Given the description of an element on the screen output the (x, y) to click on. 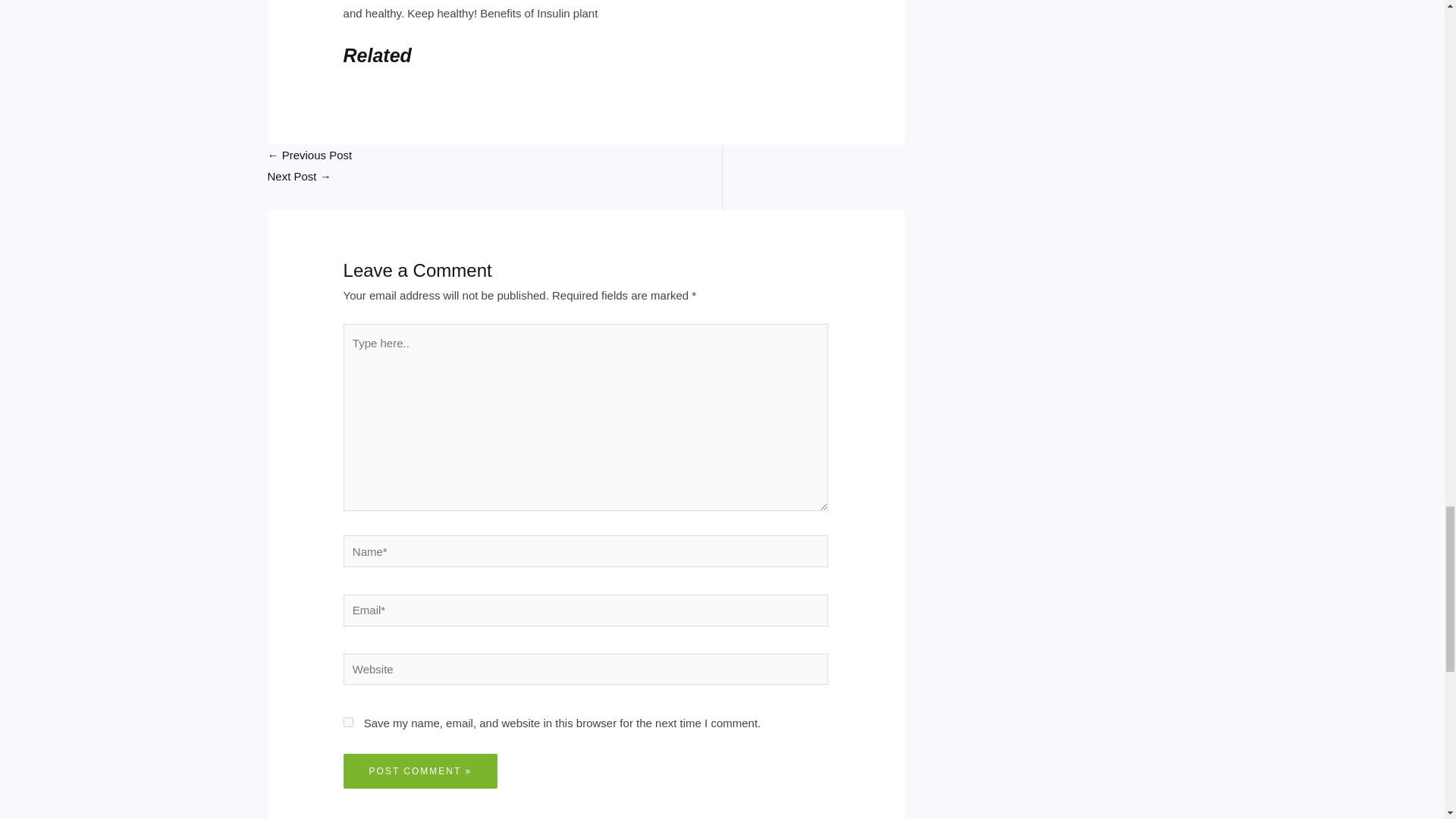
yes (348, 722)
